Given the description of an element on the screen output the (x, y) to click on. 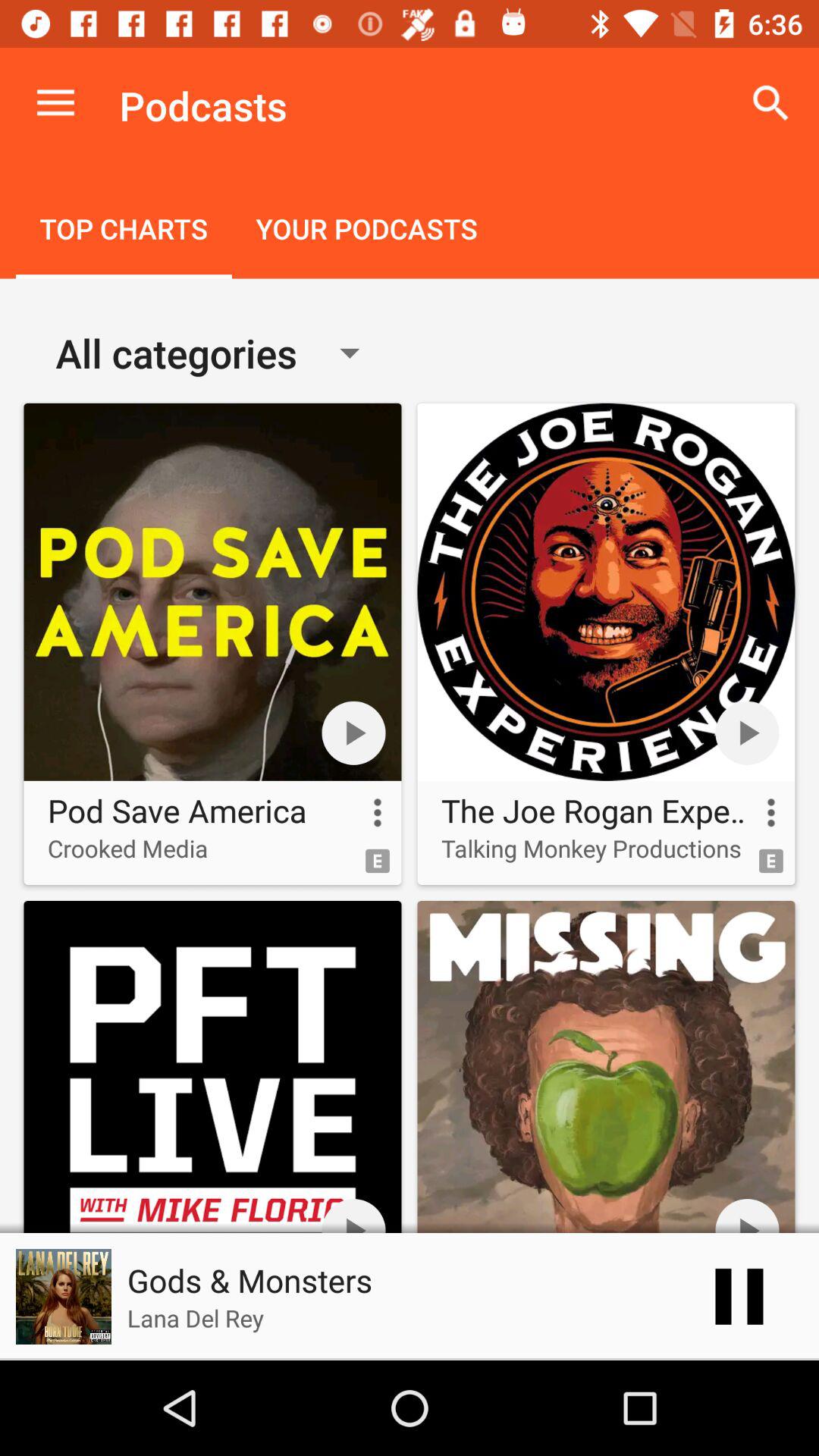
open the icon next to the podcasts item (771, 103)
